Given the description of an element on the screen output the (x, y) to click on. 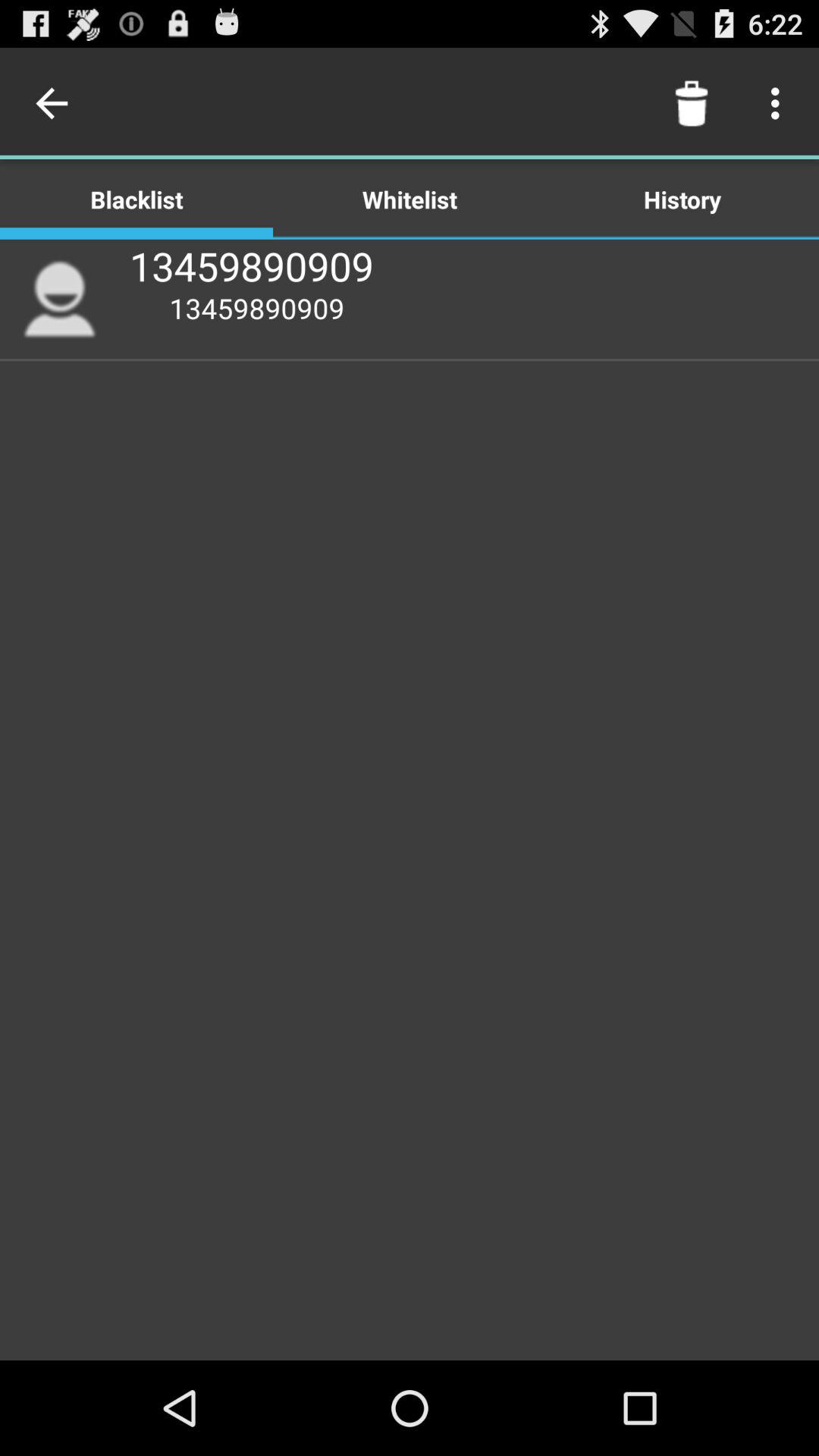
scroll until history (682, 199)
